Given the description of an element on the screen output the (x, y) to click on. 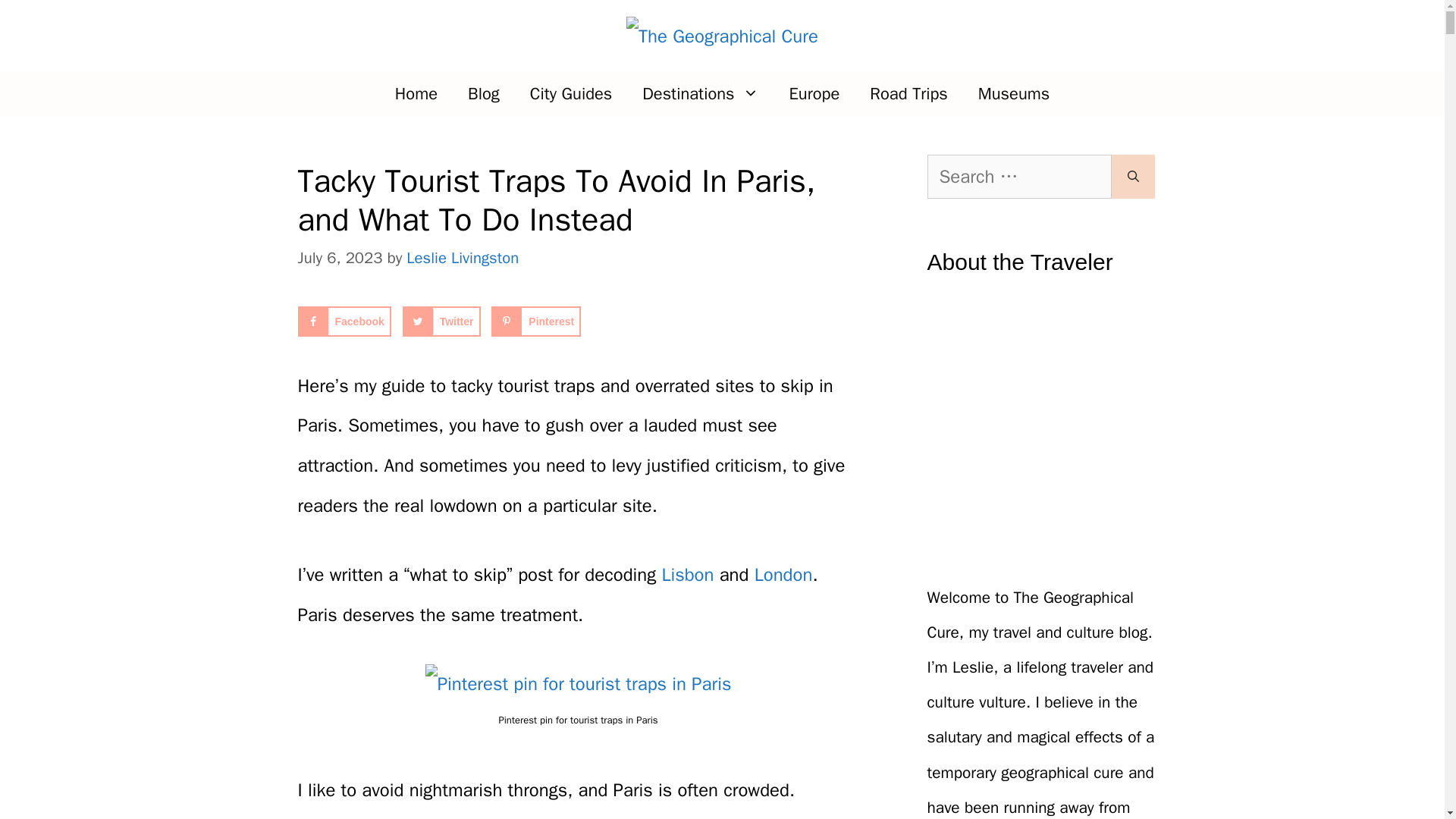
Pinterest (536, 321)
Search for: (1018, 176)
Share on Twitter (441, 321)
Home (416, 94)
View all posts by Leslie Livingston (462, 257)
London (783, 574)
Museums (1013, 94)
Twitter (441, 321)
Destinations (700, 94)
Europe (815, 94)
Share on Facebook (343, 321)
Facebook (343, 321)
Leslie Livingston (462, 257)
Road Trips (908, 94)
City Guides (571, 94)
